Given the description of an element on the screen output the (x, y) to click on. 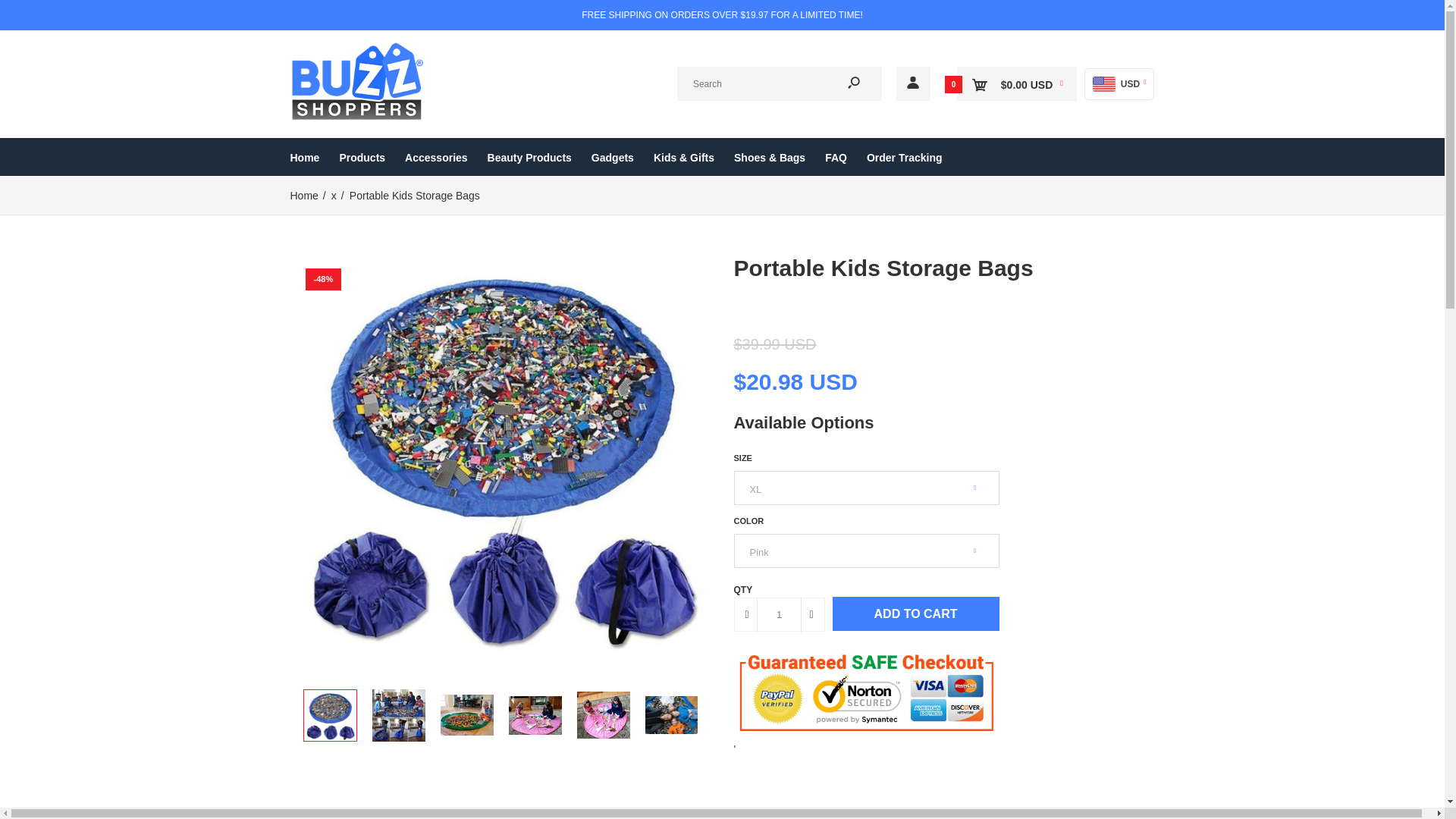
Add to cart (915, 613)
BuzzShoppers (357, 81)
Accessories (435, 157)
Order Tracking (904, 157)
BuzzShoppers (357, 117)
1 (779, 614)
Products (362, 157)
Beauty Products (529, 157)
Gadgets (612, 157)
Home (303, 195)
